Given the description of an element on the screen output the (x, y) to click on. 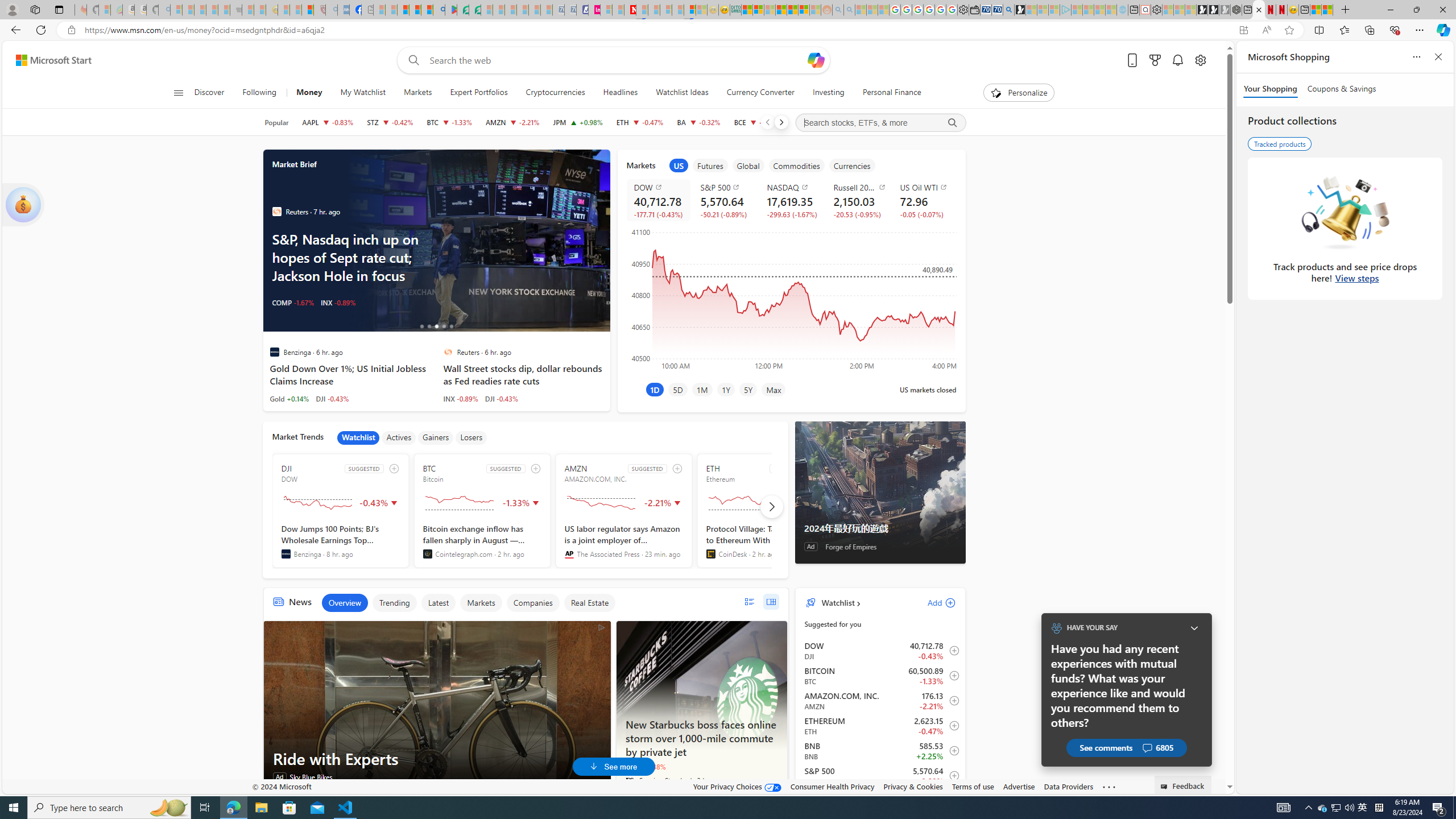
Overview (344, 602)
Markets (417, 92)
Cointelegraph.com (427, 553)
Pets - MSN (415, 9)
Bluey: Let's Play! - Apps on Google Play (450, 9)
